Given the description of an element on the screen output the (x, y) to click on. 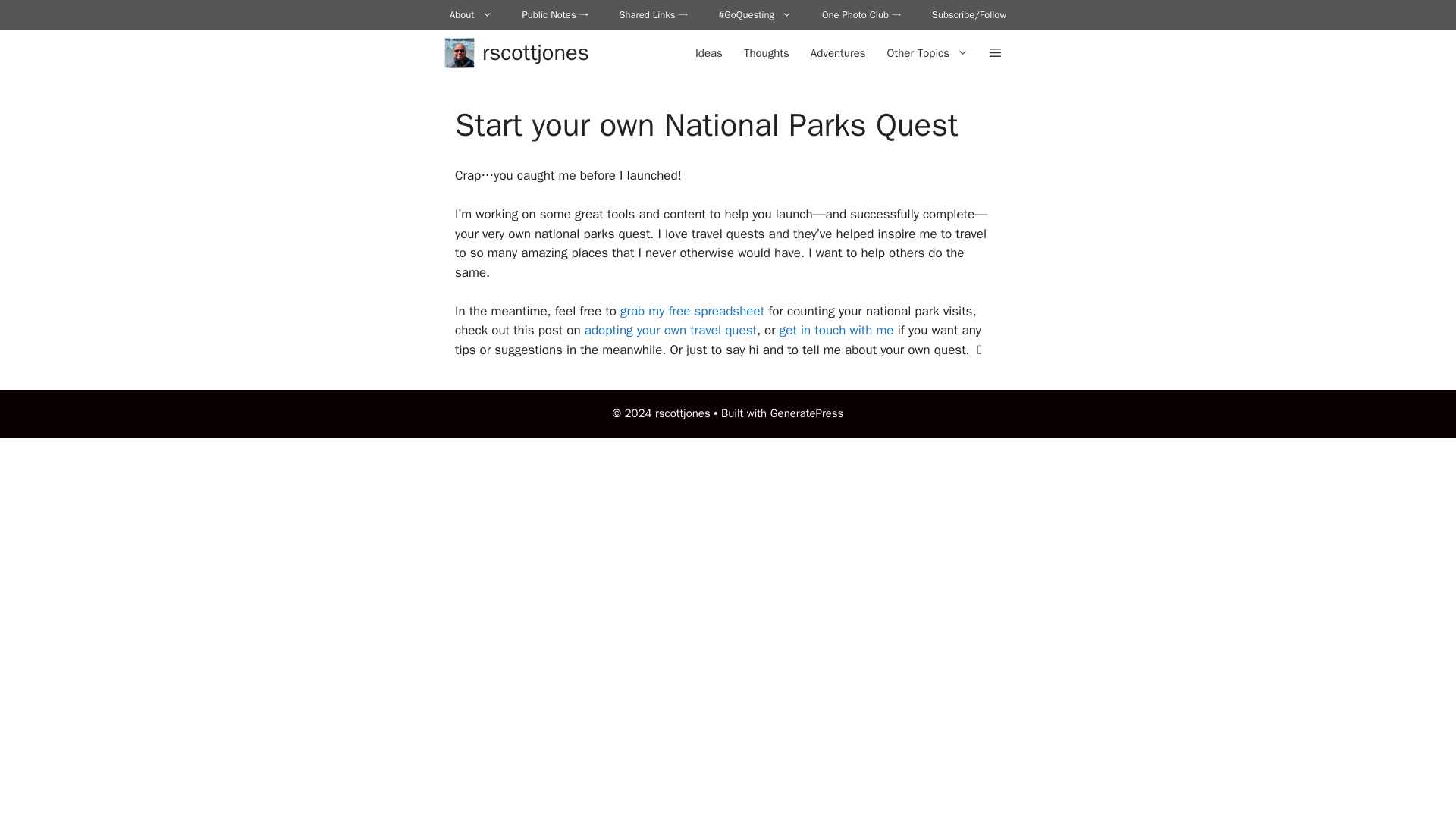
rscottjones (535, 53)
About (469, 15)
Ideas (708, 53)
